Given the description of an element on the screen output the (x, y) to click on. 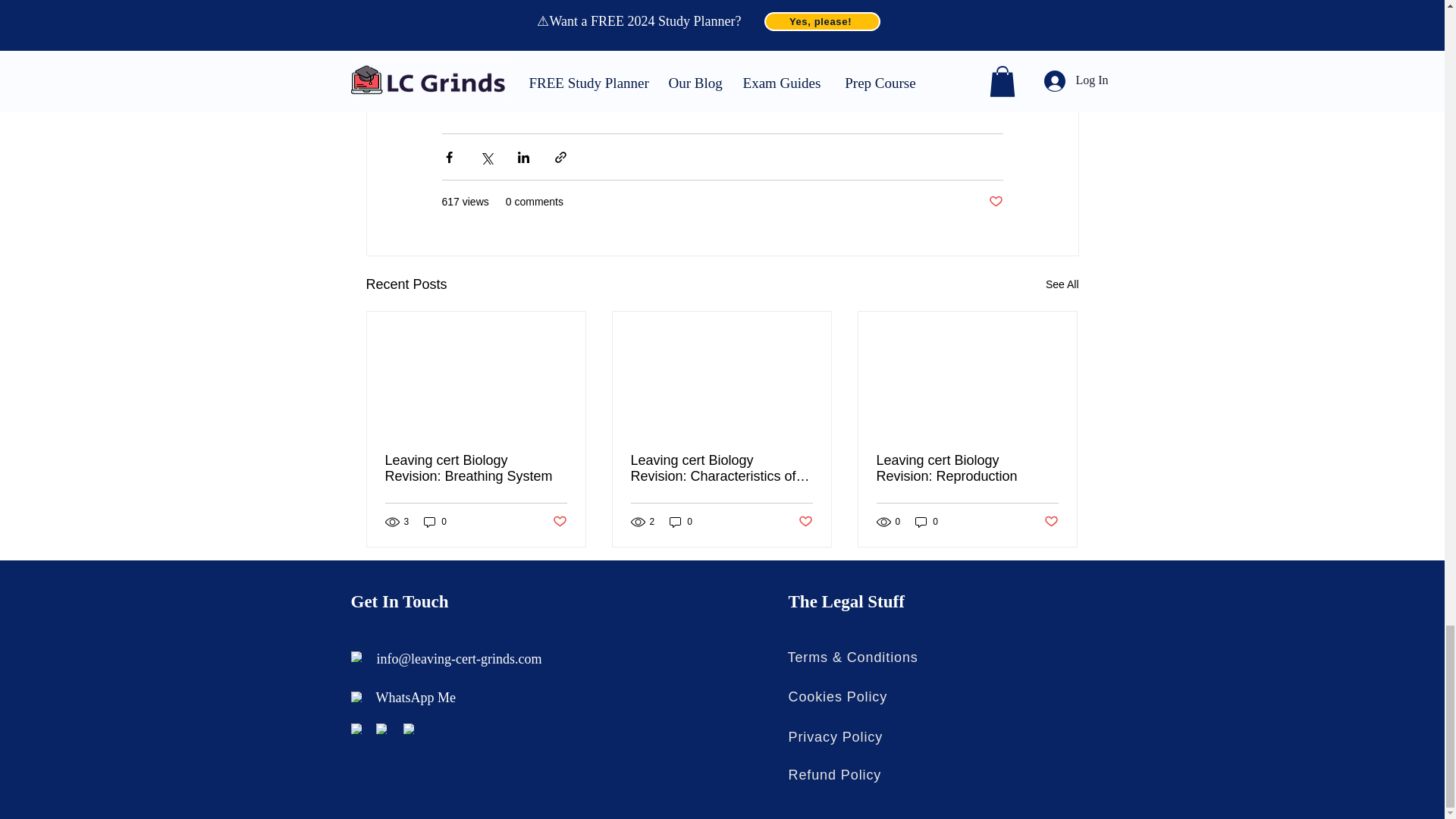
Post not marked as liked (558, 521)
Leaving cert Biology Revision: Breathing System (476, 468)
See All (1061, 284)
Post not marked as liked (804, 521)
0 (435, 522)
Post not marked as liked (995, 201)
Leaving cert Biology Revision: Characteristics of Life (721, 468)
0 (681, 522)
